Given the description of an element on the screen output the (x, y) to click on. 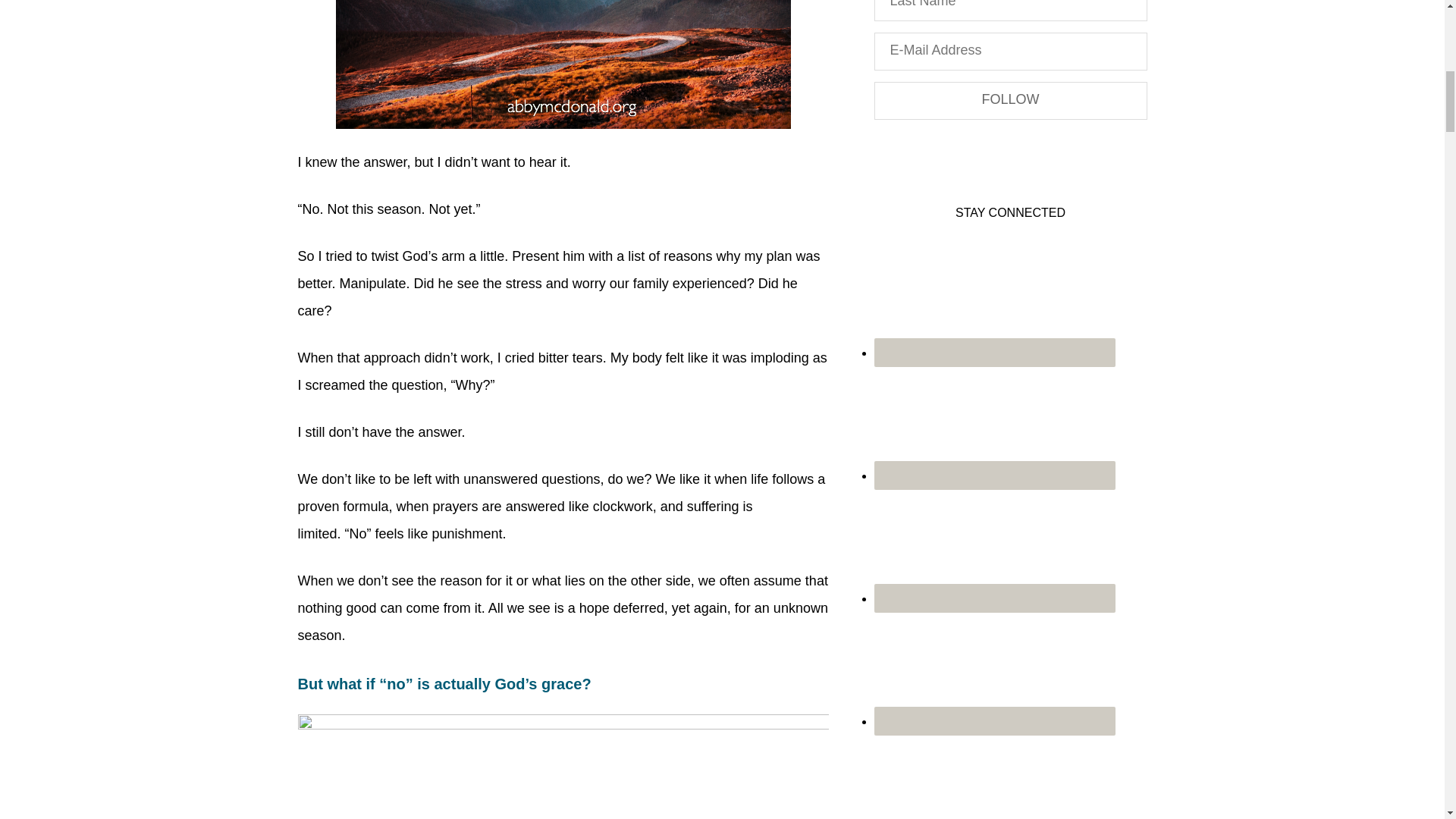
FOLLOW (1010, 100)
Instagram (994, 545)
FOLLOW (1010, 100)
Facebook (994, 422)
Privacy Policy (904, 143)
Email (994, 300)
Twitter (994, 776)
Email (994, 352)
Pinterest (994, 668)
